Given the description of an element on the screen output the (x, y) to click on. 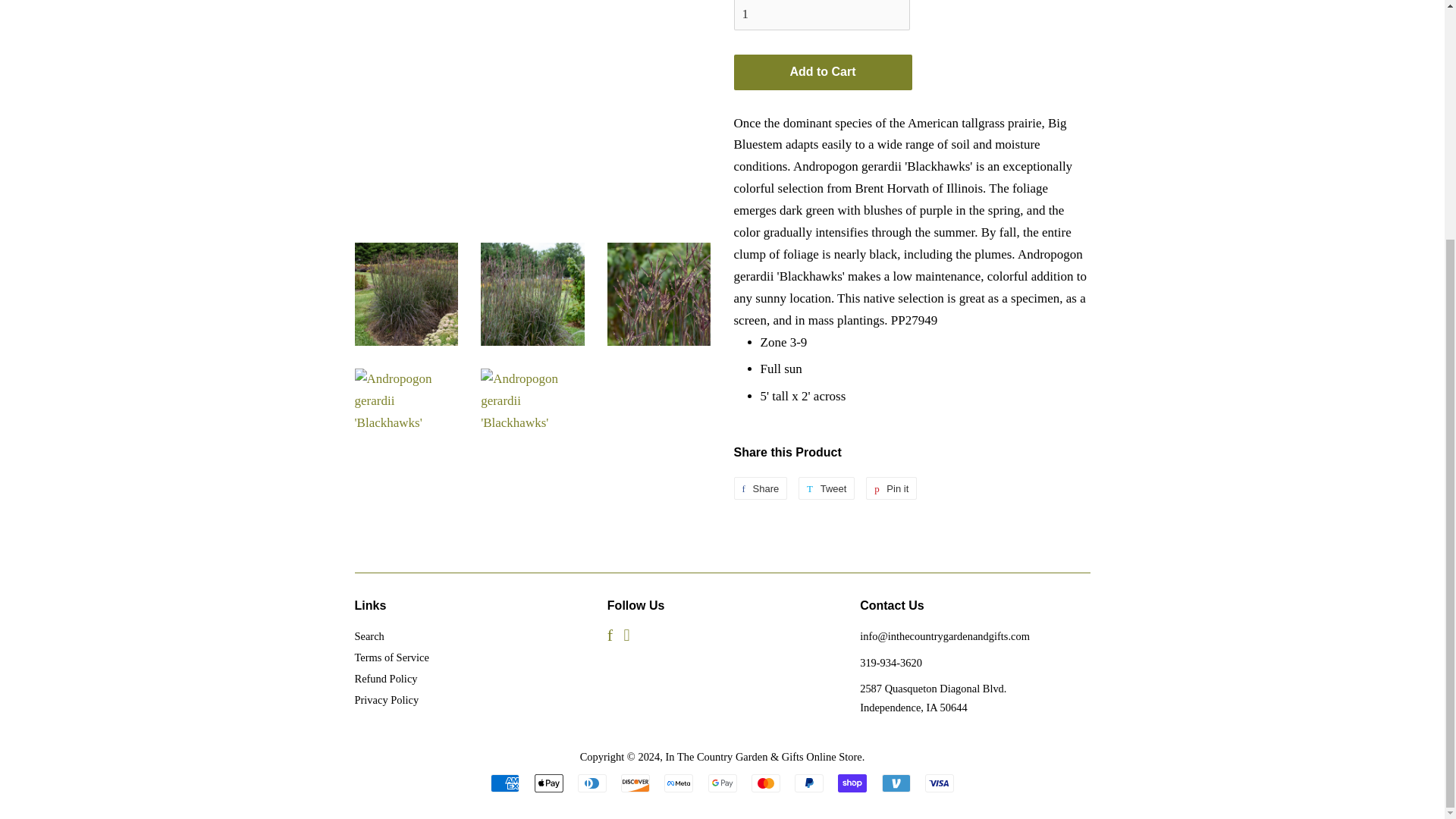
Mastercard (765, 782)
Visa (938, 782)
American Express (504, 782)
Share on Facebook (760, 487)
Venmo (895, 782)
Shop Pay (852, 782)
Pin on Pinterest (891, 487)
1 (821, 15)
Apple Pay (548, 782)
Meta Pay (678, 782)
Diners Club (592, 782)
PayPal (809, 782)
Discover (635, 782)
Google Pay (721, 782)
Tweet on Twitter (825, 487)
